Given the description of an element on the screen output the (x, y) to click on. 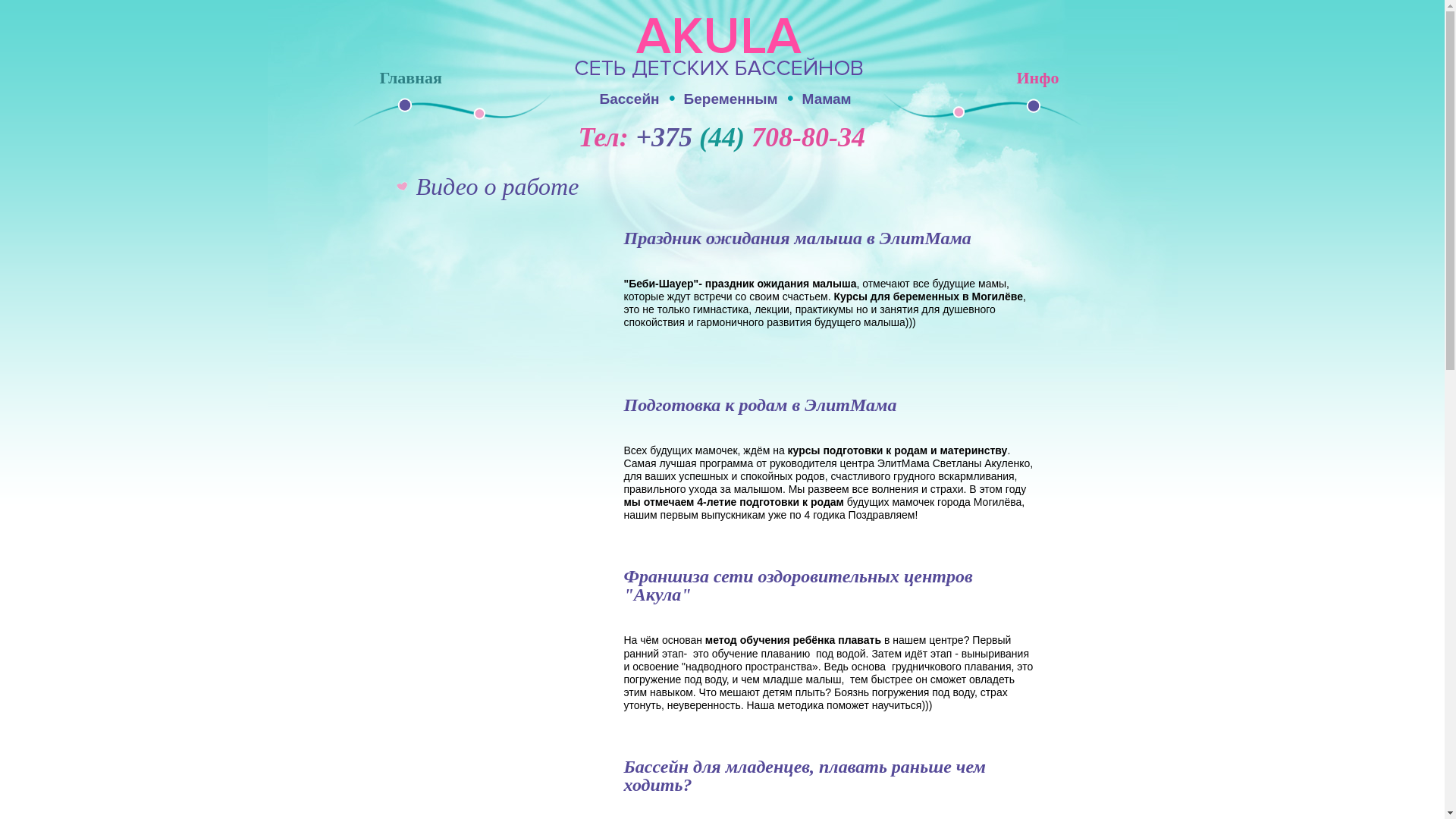
+375 (44) 708-80-34 Element type: text (749, 137)
